Given the description of an element on the screen output the (x, y) to click on. 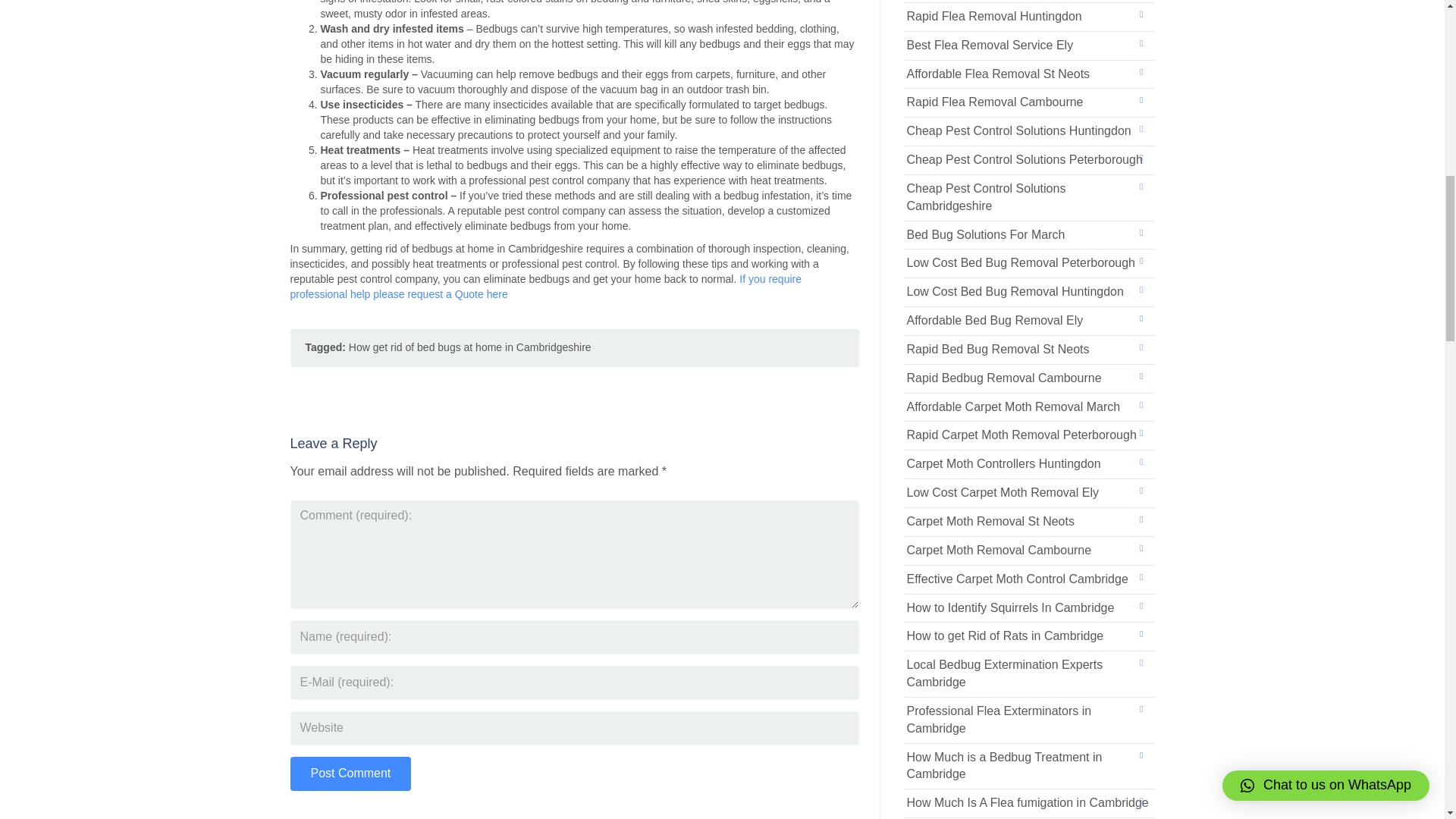
Post Comment (349, 773)
